Given the description of an element on the screen output the (x, y) to click on. 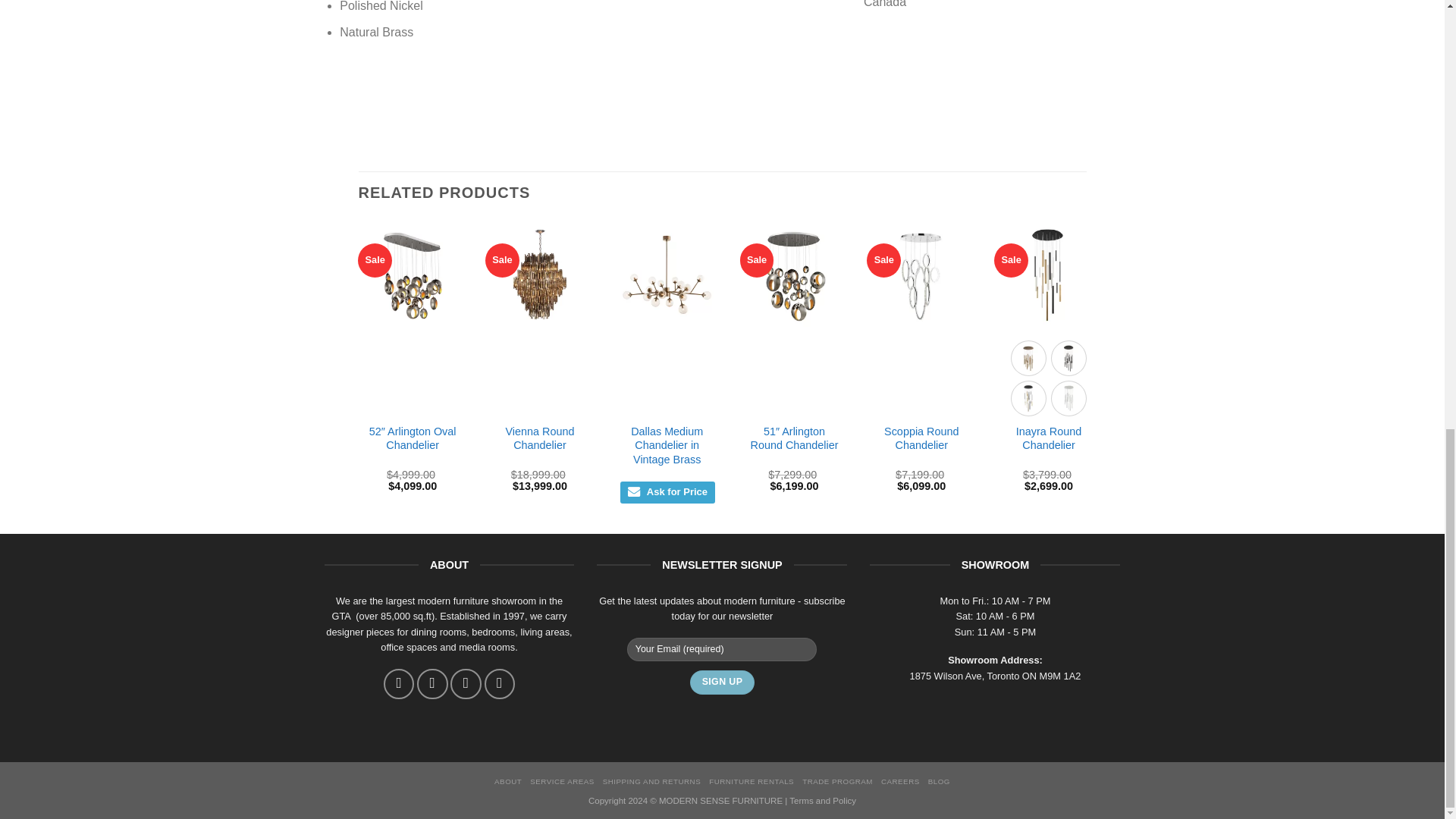
Follow on TikTok (464, 684)
Follow on Facebook (398, 684)
Sign Up (722, 682)
Follow on Pinterest (499, 684)
Follow on Instagram (431, 684)
